Given the description of an element on the screen output the (x, y) to click on. 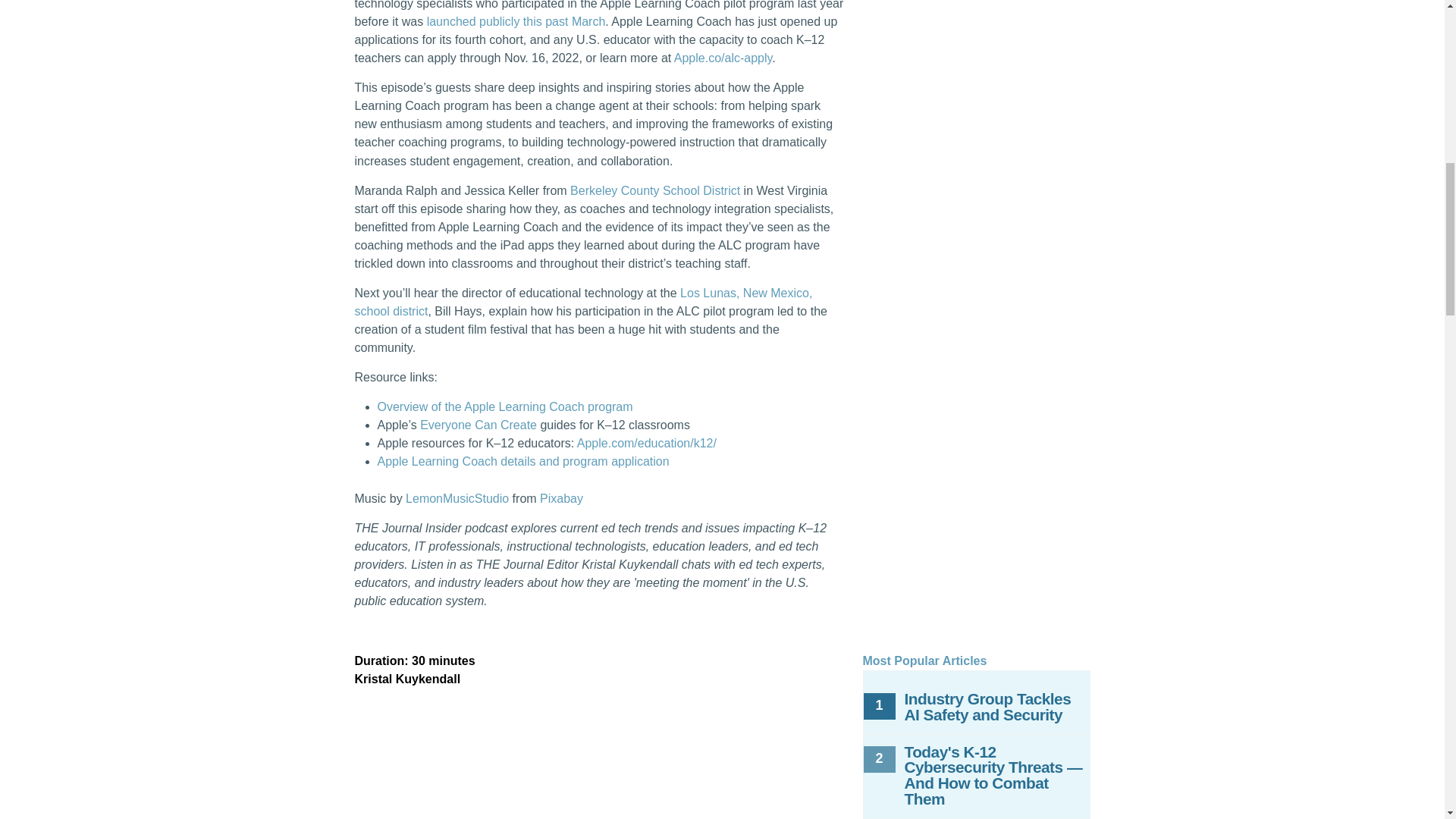
LemonMusicStudio (457, 498)
3rd party ad content (976, 551)
Los Lunas, New Mexico, school district (583, 301)
Apple Learning Coach details and program application (523, 461)
Berkeley County School District (654, 190)
launched publicly this past March (515, 21)
3rd party ad content (976, 225)
Overview of the Apple Learning Coach program (505, 406)
Everyone Can Create (478, 424)
